Given the description of an element on the screen output the (x, y) to click on. 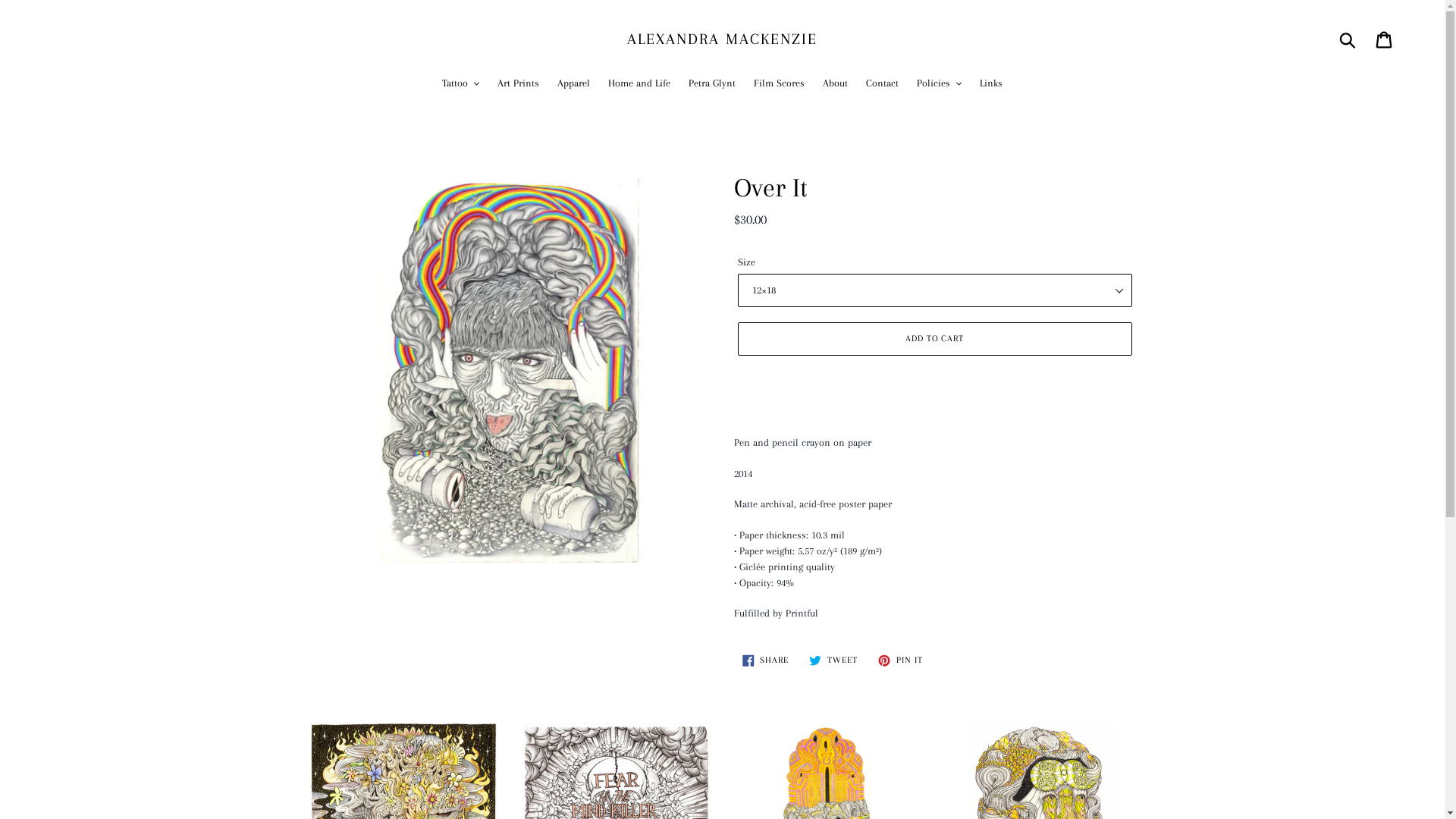
Contact Element type: text (882, 84)
Cart Element type: text (1384, 38)
Apparel Element type: text (573, 84)
SHARE
SHARE ON FACEBOOK Element type: text (765, 660)
Film Scores Element type: text (779, 84)
Submit Element type: text (1348, 39)
Links Element type: text (991, 84)
Home and Life Element type: text (638, 84)
PIN IT
PIN ON PINTEREST Element type: text (900, 660)
ALEXANDRA MACKENZIE Element type: text (722, 38)
Petra Glynt Element type: text (711, 84)
ADD TO CART Element type: text (934, 338)
About Element type: text (835, 84)
TWEET
TWEET ON TWITTER Element type: text (833, 660)
Art Prints Element type: text (517, 84)
